Given the description of an element on the screen output the (x, y) to click on. 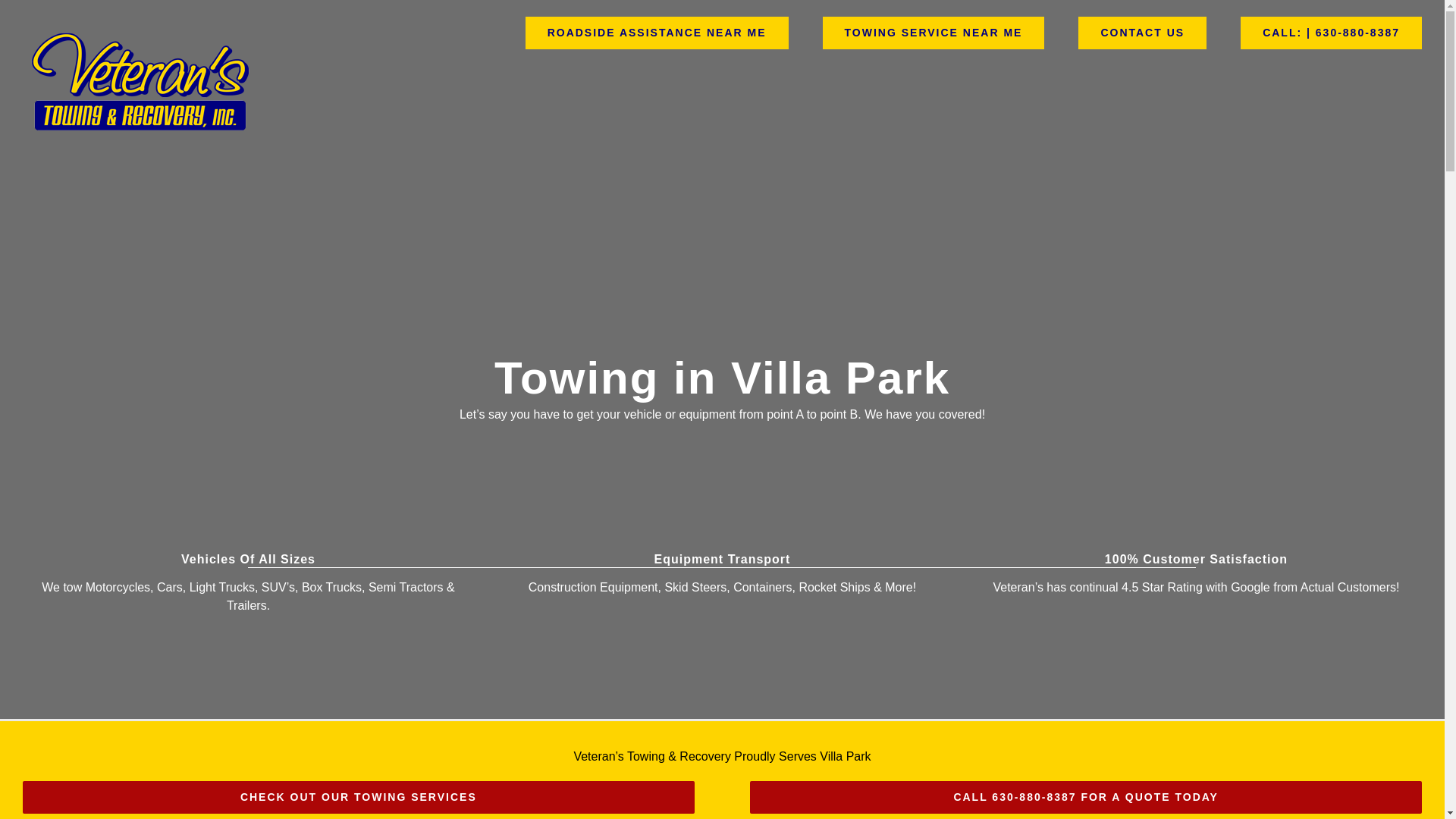
CONTACT US (1142, 31)
CHECK OUT OUR TOWING SERVICES (358, 797)
CHECK OUT OUR TOWING SERVICES (358, 797)
CALL 630-880-8387 FOR A QUOTE TODAY (1085, 797)
CALL 630-880-8387 FOR A QUOTE TODAY (1085, 797)
TOWING SERVICE NEAR ME (933, 31)
ROADSIDE ASSISTANCE NEAR ME (657, 31)
